Given the description of an element on the screen output the (x, y) to click on. 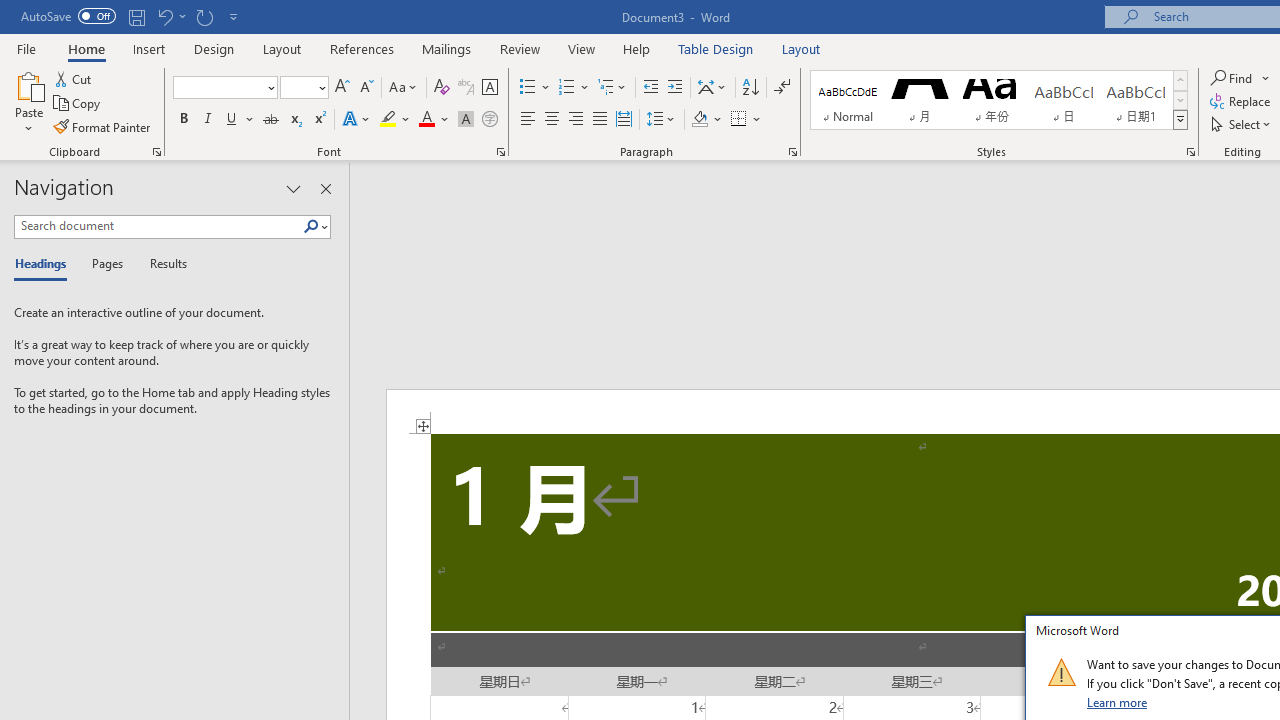
Undo Apply Quick Style (170, 15)
